Given the description of an element on the screen output the (x, y) to click on. 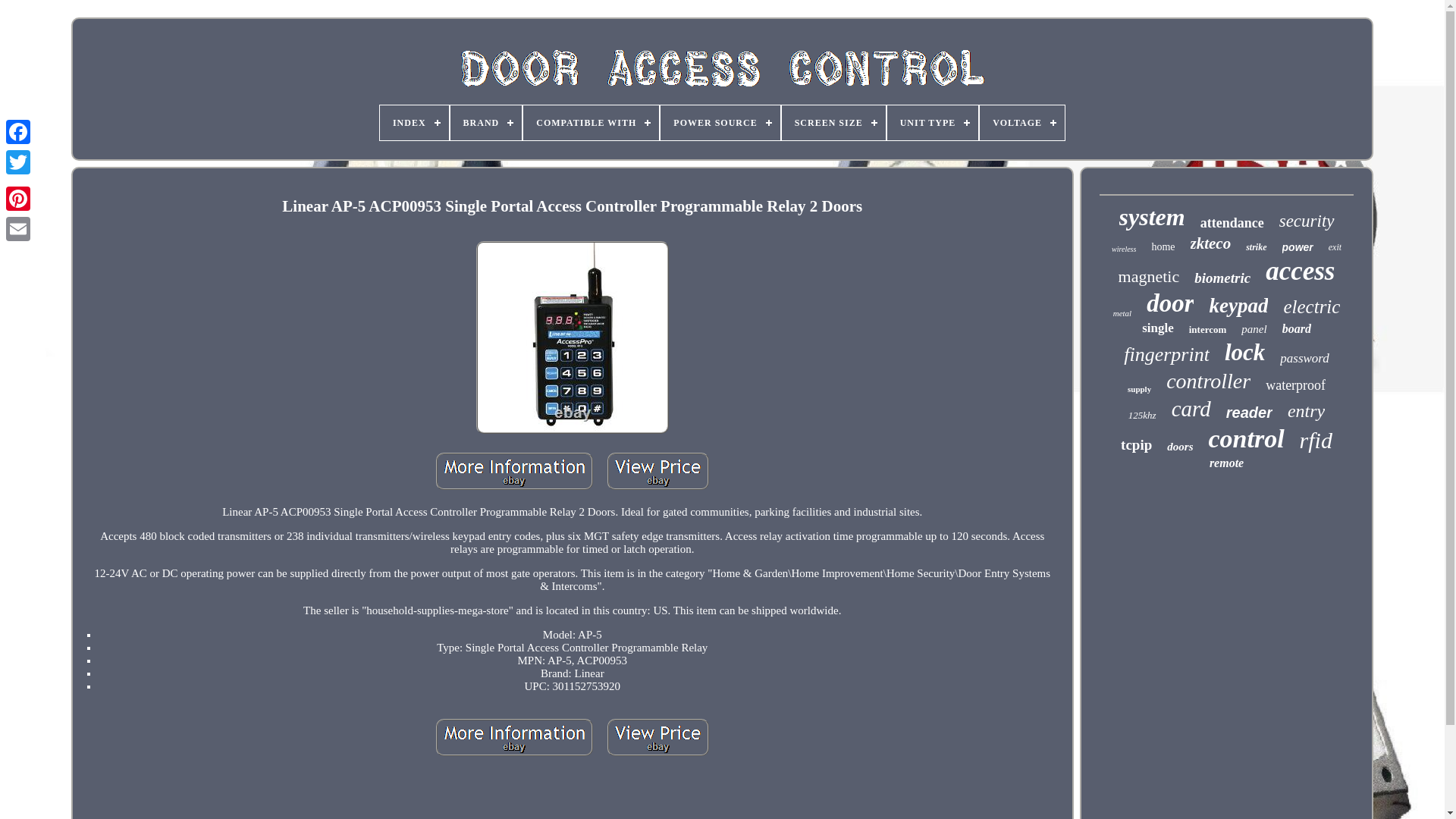
BRAND (485, 122)
COMPATIBLE WITH (590, 122)
INDEX (414, 122)
Email (17, 228)
